Given the description of an element on the screen output the (x, y) to click on. 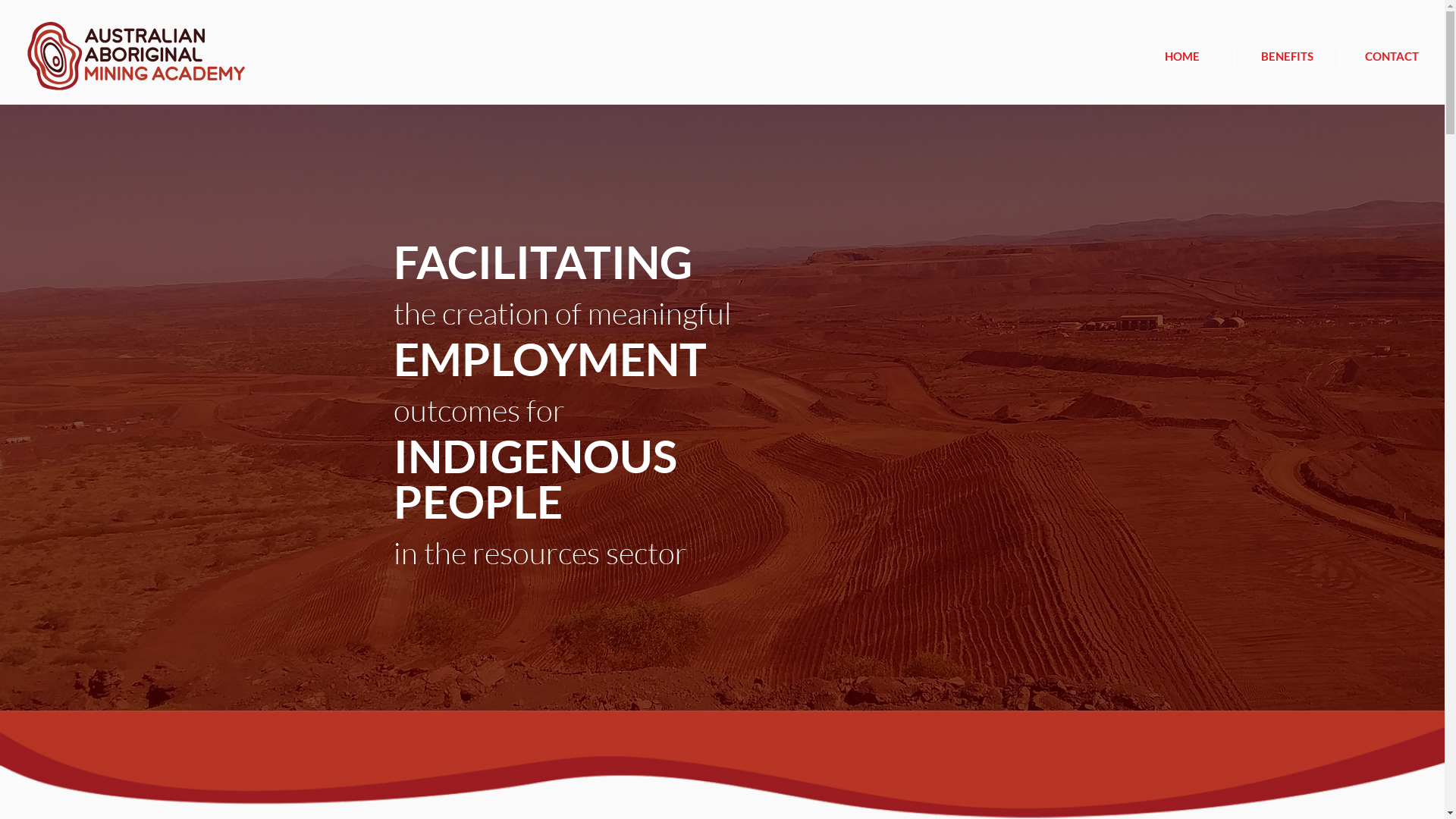
BENEFITS Element type: text (1286, 55)
AAMA_Logo_Final -01_edited.png Element type: hover (135, 55)
HOME Element type: text (1181, 55)
CONTACT Element type: text (1391, 55)
